Given the description of an element on the screen output the (x, y) to click on. 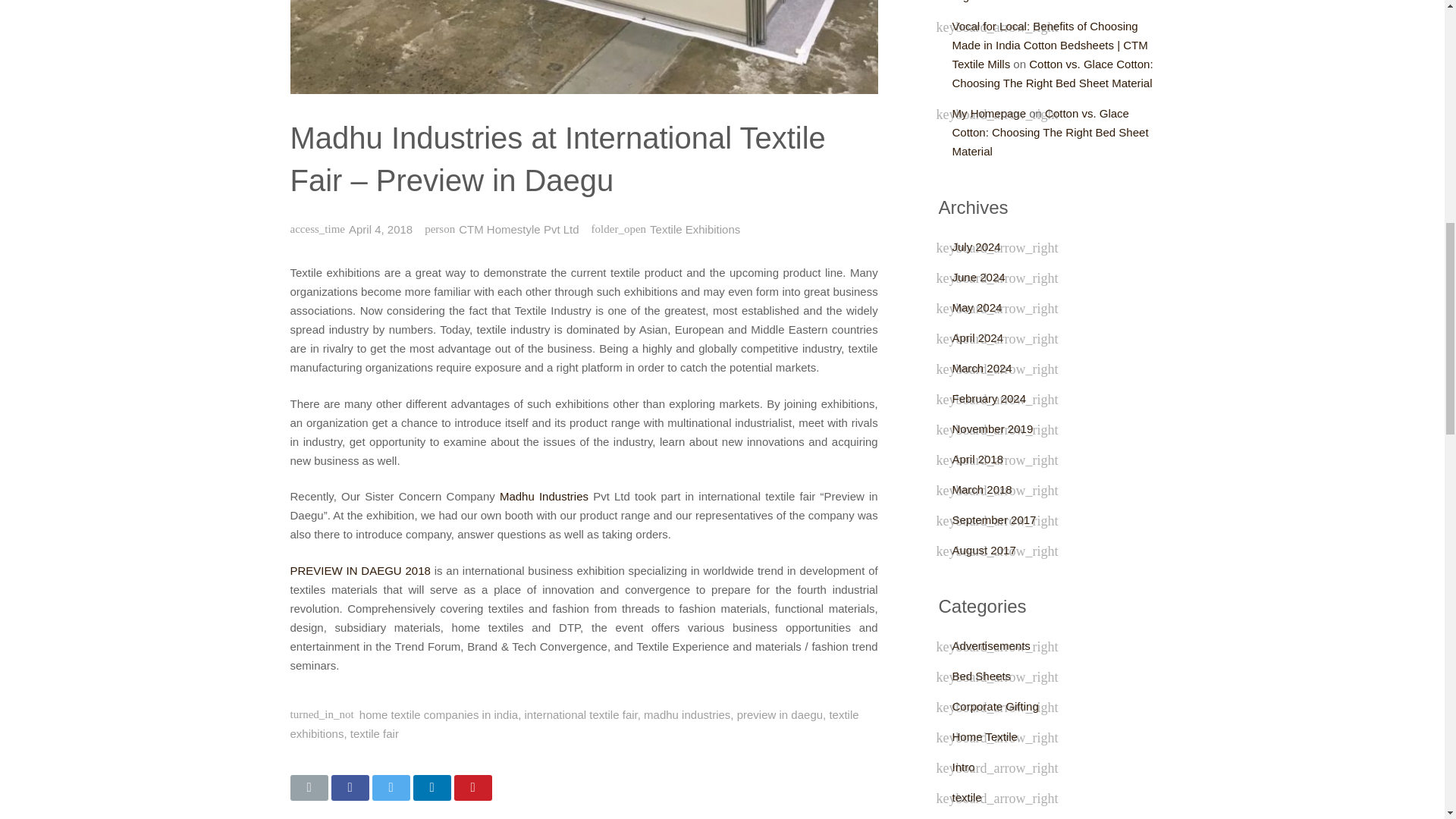
preview in daegu (779, 714)
textile exhibitions (574, 724)
textile fair (374, 733)
Tweet this (390, 787)
Email this (308, 787)
Share this (430, 787)
international textile fair (580, 714)
Share this (349, 787)
home textile companies in india (438, 714)
Textile Exhibitions (694, 228)
